Given the description of an element on the screen output the (x, y) to click on. 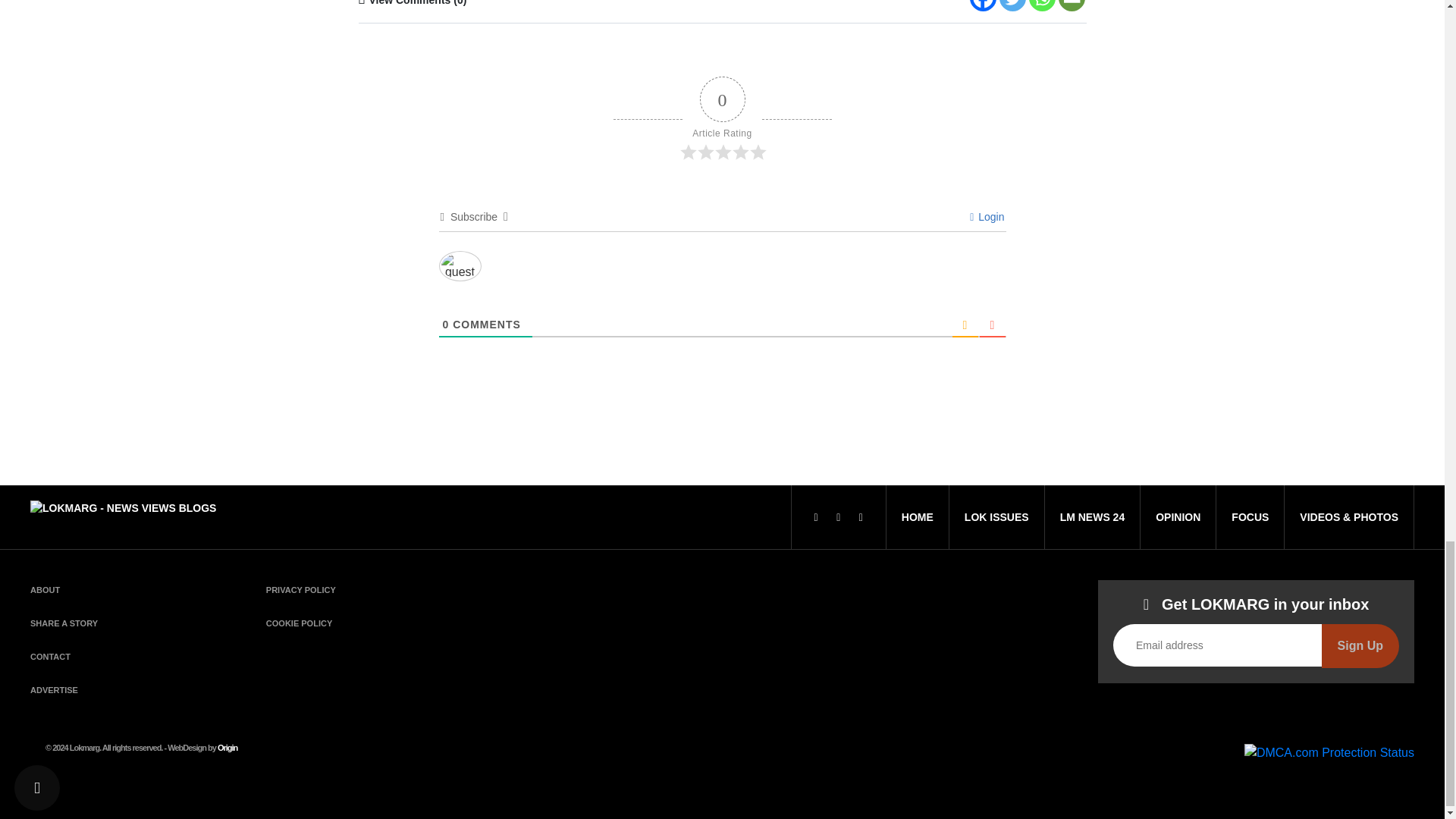
Login (986, 216)
Sign Up (1360, 646)
